Given the description of an element on the screen output the (x, y) to click on. 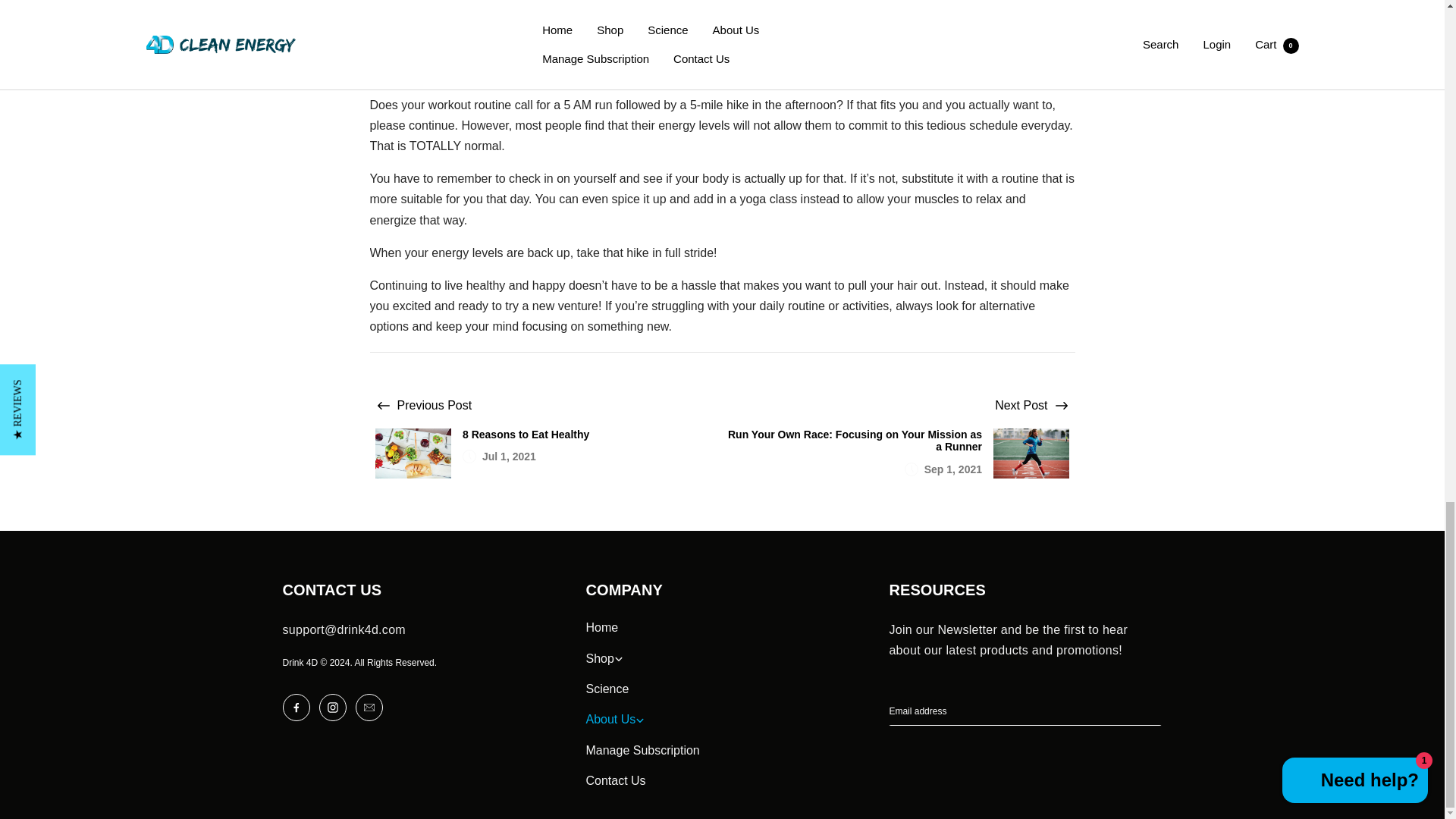
8 Reasons to Eat Healthy (589, 434)
Home (641, 627)
Home (641, 627)
About Us (641, 719)
Shop (641, 658)
Science (641, 688)
Previous Post (434, 405)
Manage Subscription (641, 750)
Shop (641, 658)
Manage Subscription (641, 750)
About Us (641, 719)
Run Your Own Race: Focusing on Your Mission as a Runner (854, 441)
Contact Us (641, 781)
Contact Us (641, 781)
Science (641, 688)
